Given the description of an element on the screen output the (x, y) to click on. 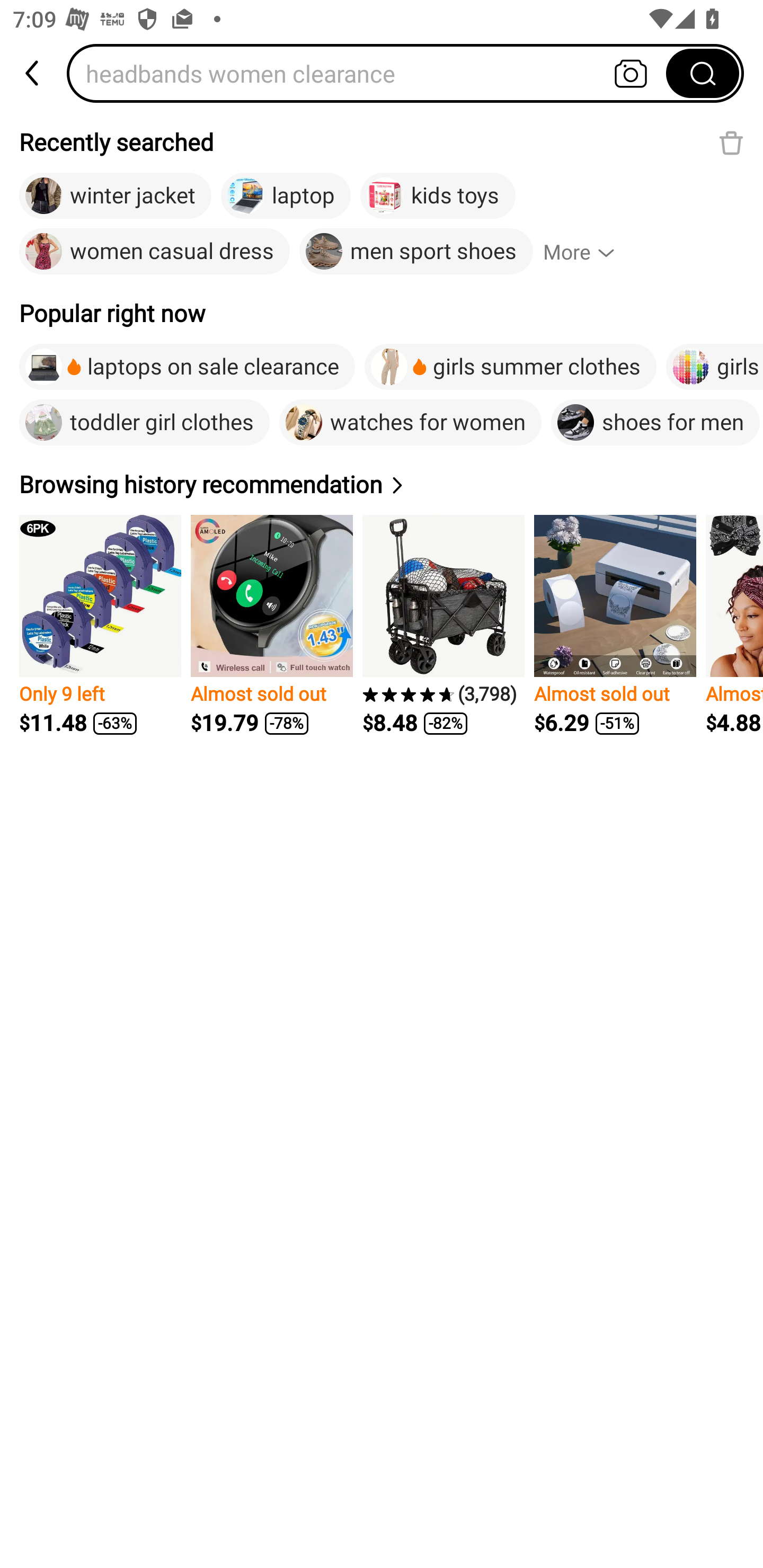
back (33, 72)
headbands women clearance (372, 73)
Search by photo (630, 73)
Delete recent search (731, 142)
winter jacket (115, 195)
laptop (285, 195)
kids toys (437, 195)
women casual dress (154, 251)
men sport shoes (416, 251)
More (586, 251)
laptops on sale clearance (186, 366)
girls summer clothes (510, 366)
girls hair accessories kids (714, 366)
toddler girl clothes (144, 422)
watches for women (410, 422)
shoes for men (654, 422)
Browsing history recommendation (213, 484)
Only 9 left $11.48 -63% (100, 625)
Almost sold out $19.79 -78% (271, 625)
(3,798) $8.48 -82% (443, 625)
Almost sold out $6.29 -51% (614, 625)
